Given the description of an element on the screen output the (x, y) to click on. 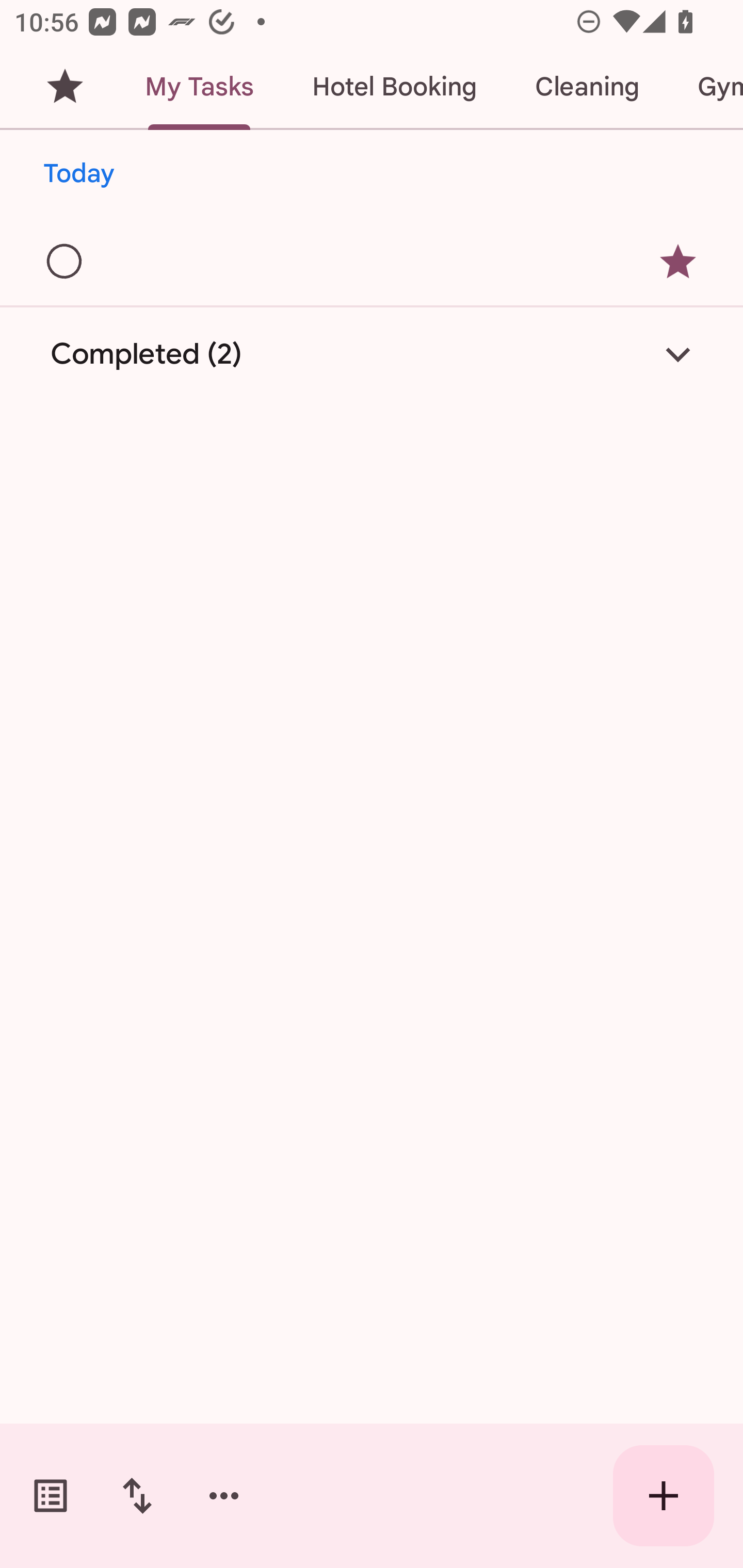
Starred (64, 86)
Hotel Booking (394, 86)
Cleaning (586, 86)
Remove star (677, 261)
Mark as complete (64, 261)
Completed (2) (371, 354)
Switch task lists (50, 1495)
Create new task (663, 1495)
Change sort order (136, 1495)
More options (223, 1495)
